Given the description of an element on the screen output the (x, y) to click on. 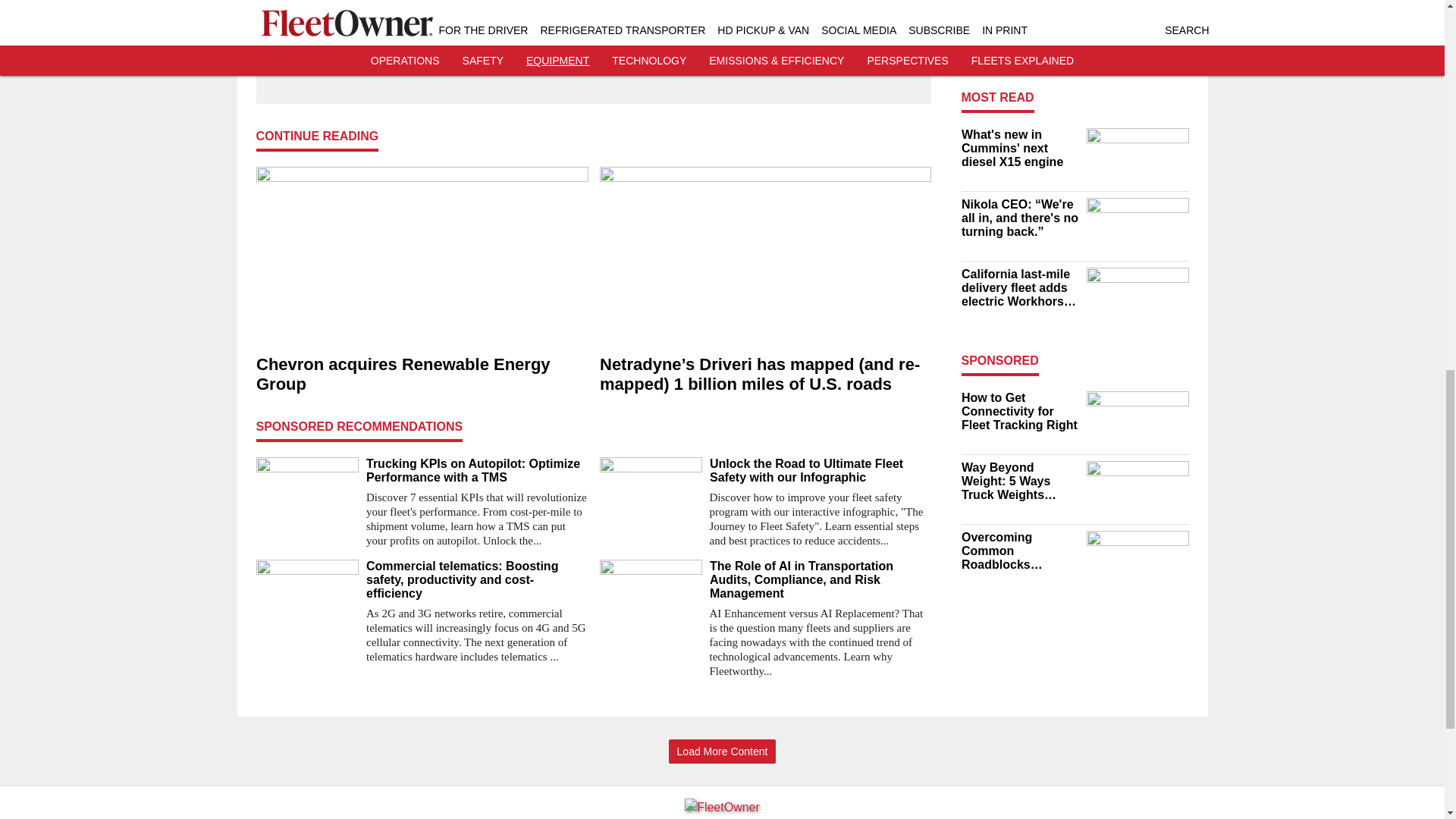
I already have an account (593, 65)
Chevron acquires Renewable Energy Group (422, 373)
Trucking KPIs on Autopilot: Optimize Performance with a TMS (476, 470)
Join today! (593, 35)
